Given the description of an element on the screen output the (x, y) to click on. 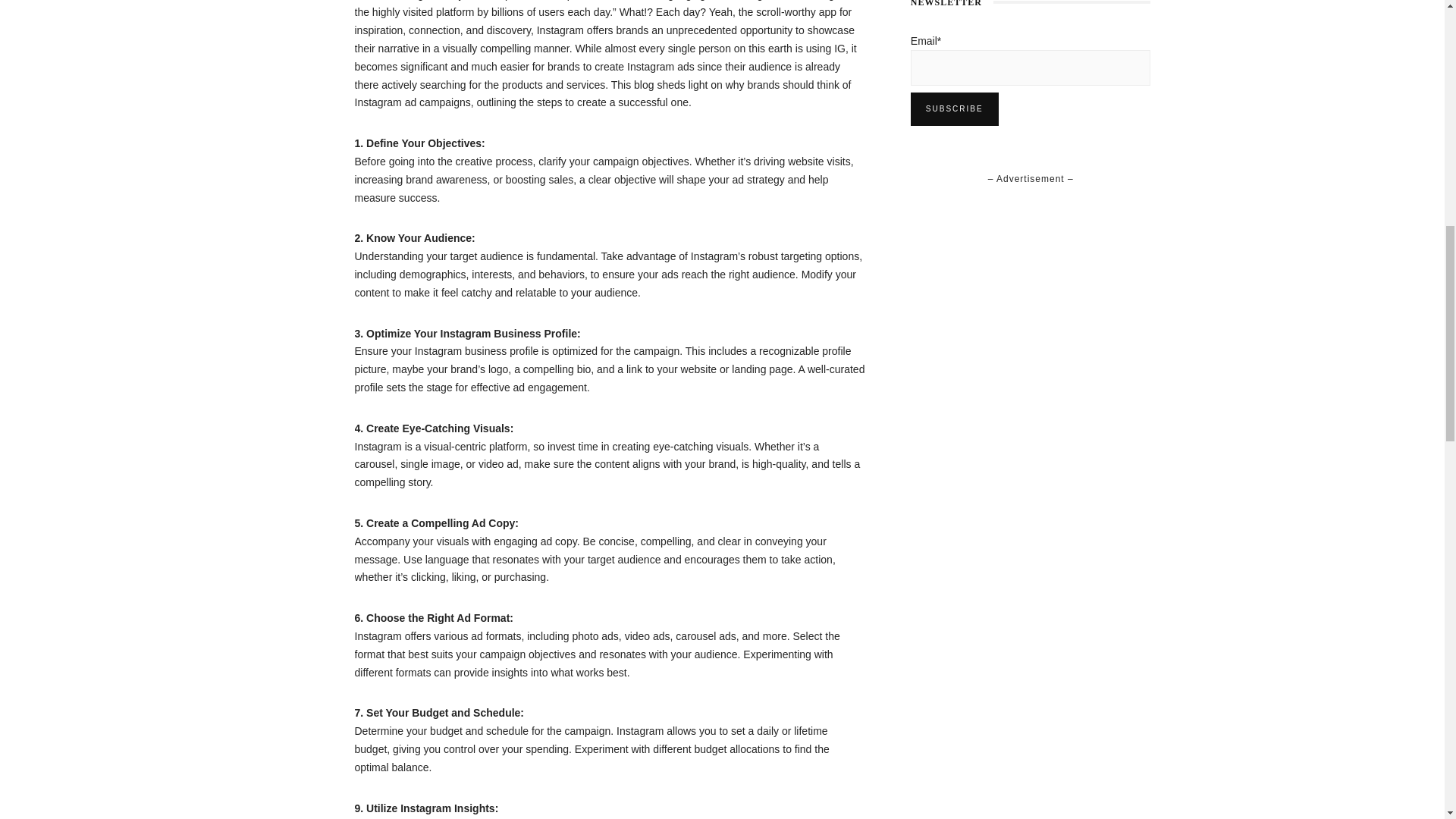
Subscribe (954, 109)
